Given the description of an element on the screen output the (x, y) to click on. 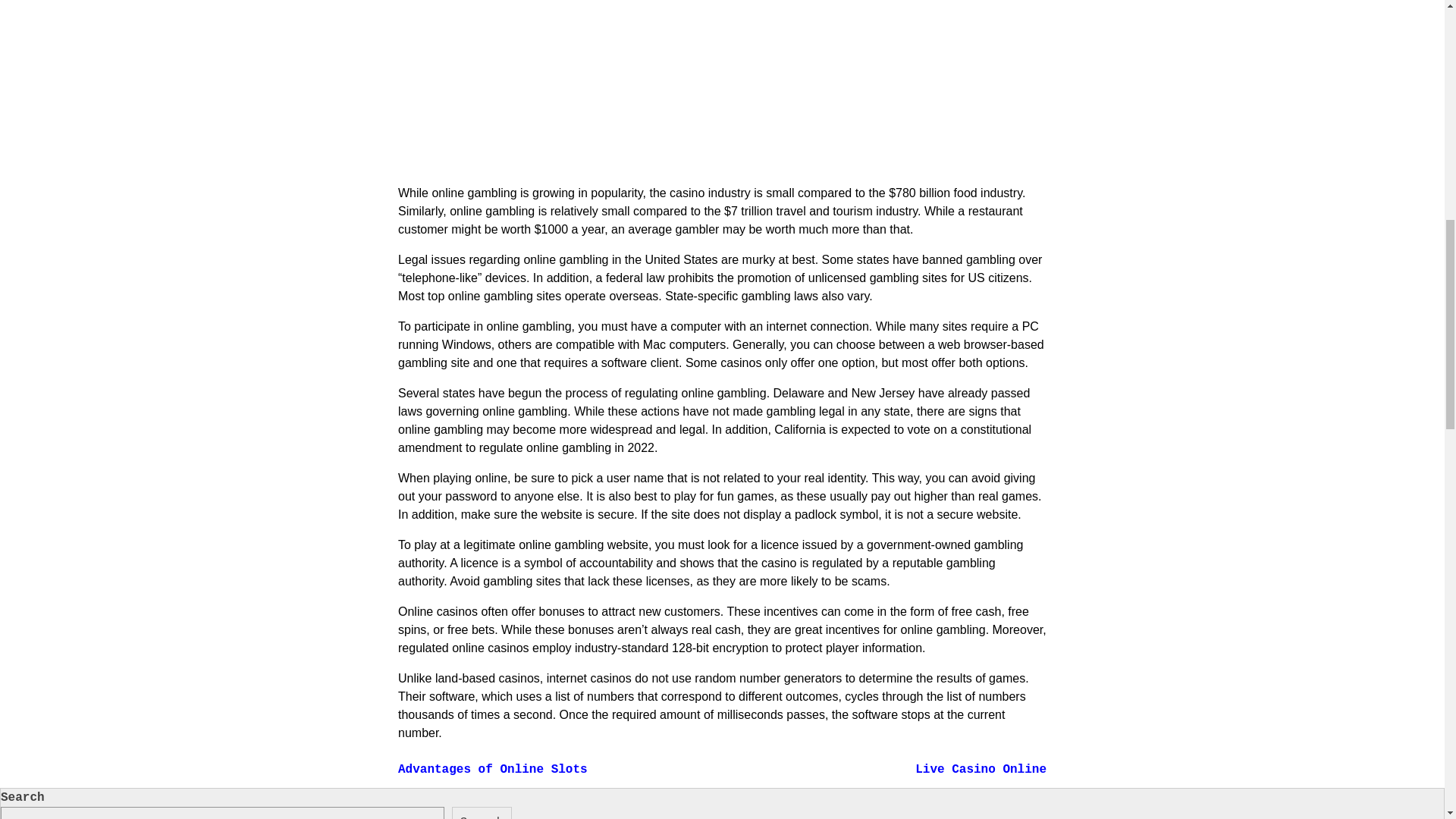
Advantages of Online Slots (492, 769)
Live Casino Online (980, 769)
Search (481, 812)
